Given the description of an element on the screen output the (x, y) to click on. 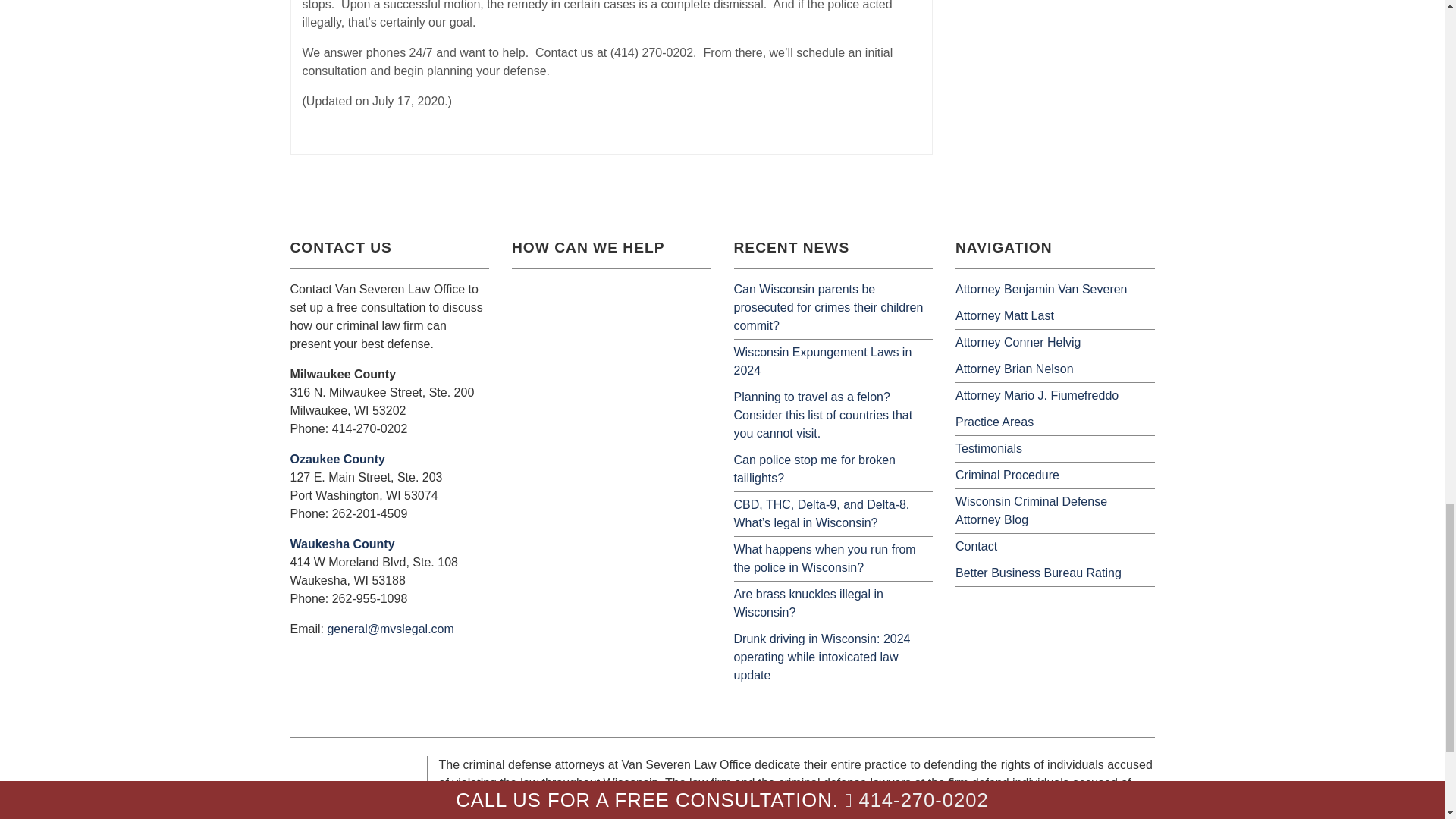
Permanent Link to Can police stop me for broken taillights? (814, 468)
Permanent Link to Wisconsin Expungement Laws in 2024 (822, 360)
